Given the description of an element on the screen output the (x, y) to click on. 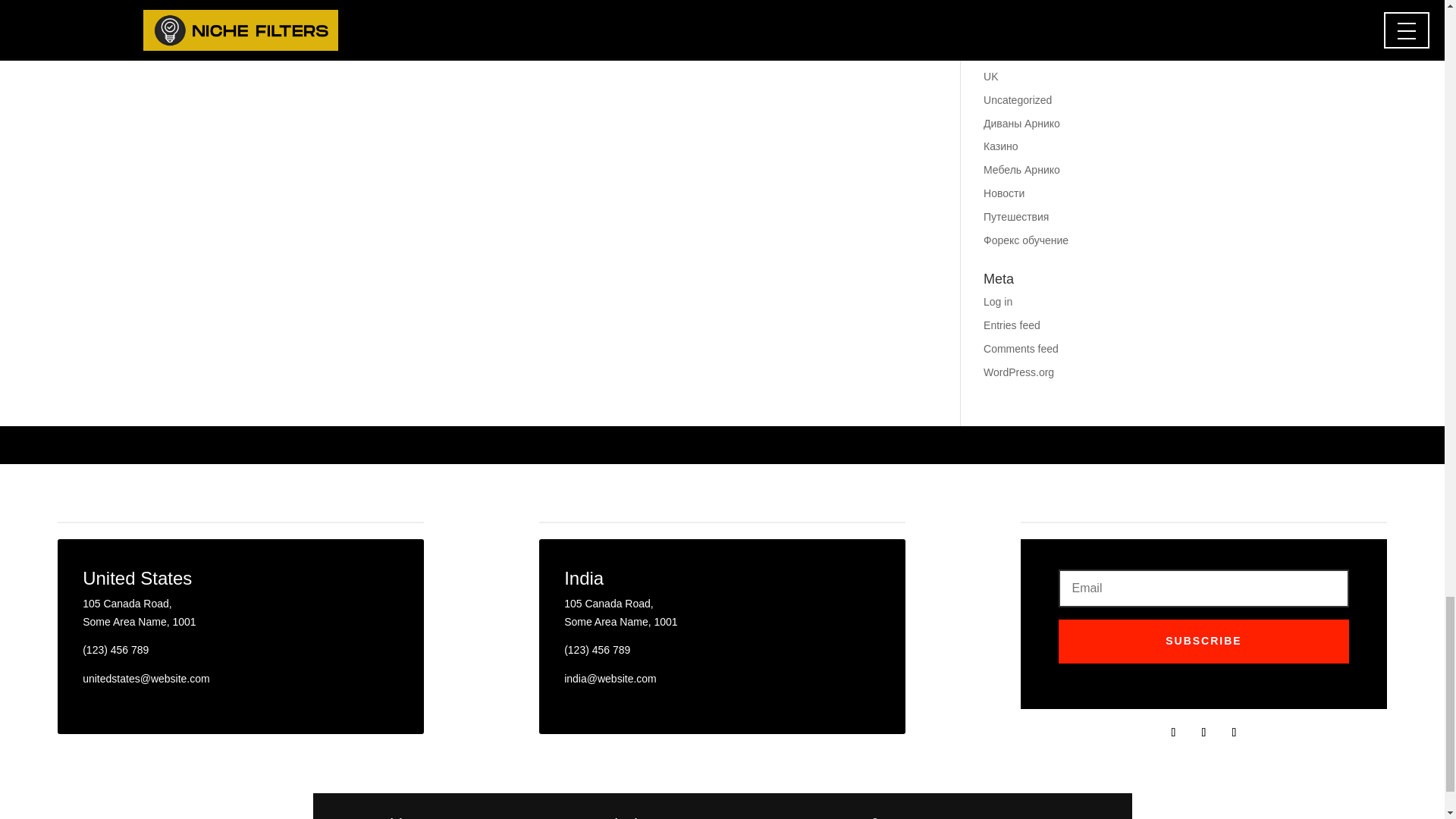
Follow on Instagram (1233, 732)
Follow on Twitter (1203, 732)
Follow on Facebook (1172, 732)
